Given the description of an element on the screen output the (x, y) to click on. 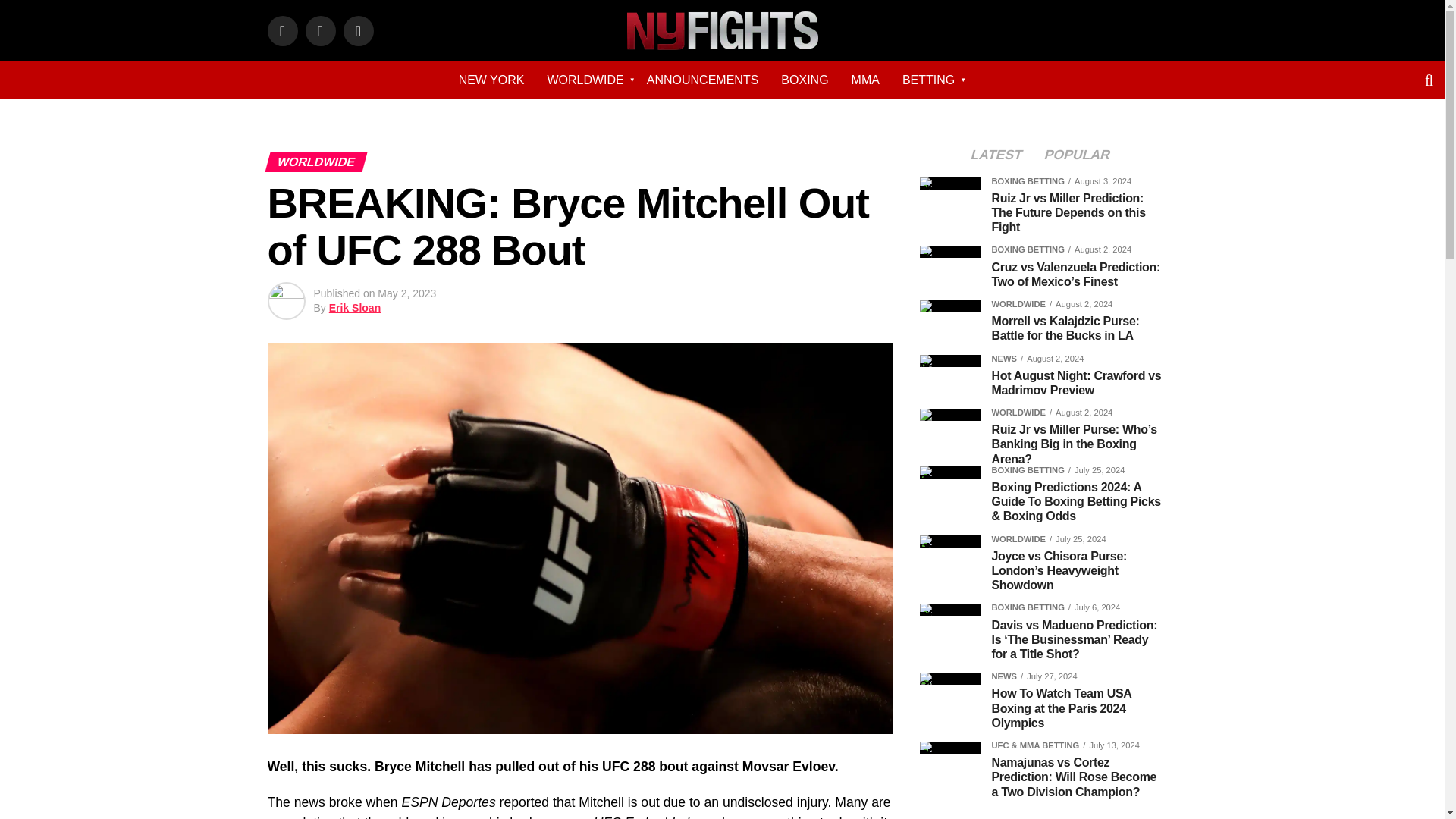
MMA (865, 80)
ANNOUNCEMENTS (702, 80)
WORLDWIDE (584, 80)
BOXING (805, 80)
NEW YORK (490, 80)
BETTING (928, 80)
